Given the description of an element on the screen output the (x, y) to click on. 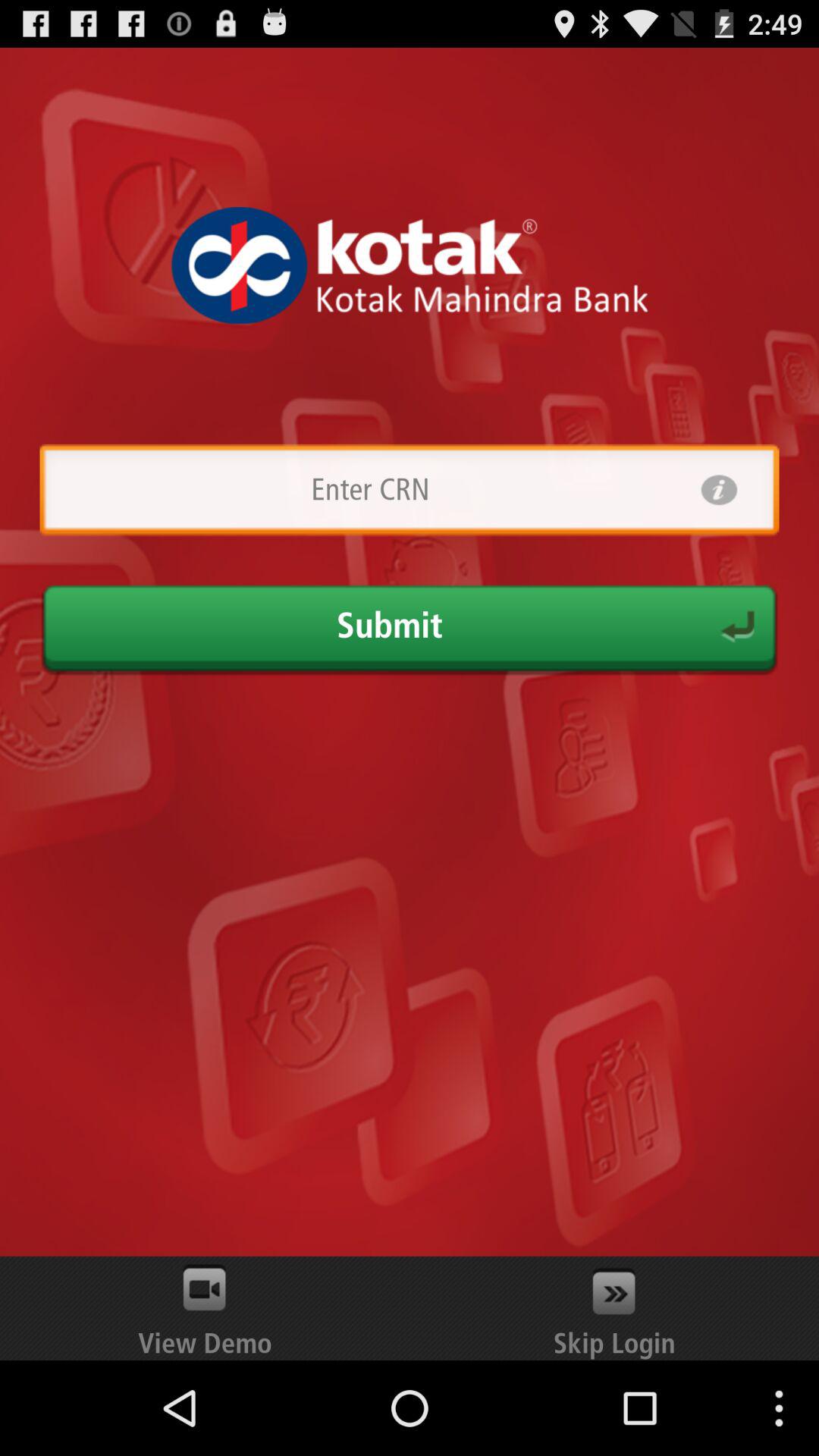
info (719, 489)
